Given the description of an element on the screen output the (x, y) to click on. 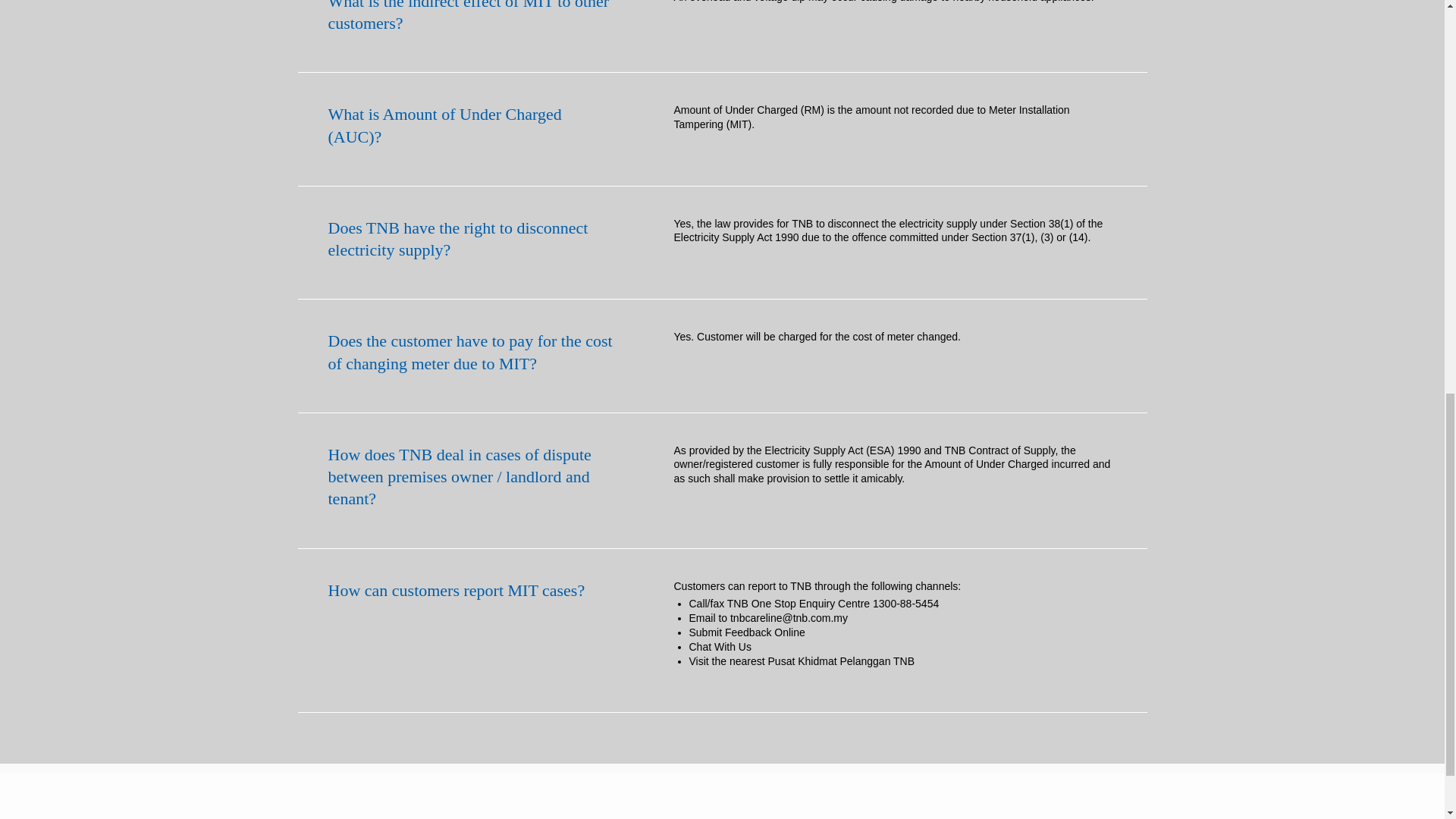
Pusat Khidmat Pelanggan TNB (841, 661)
Submit Feedback Online (746, 632)
Chat With Us (719, 646)
